Given the description of an element on the screen output the (x, y) to click on. 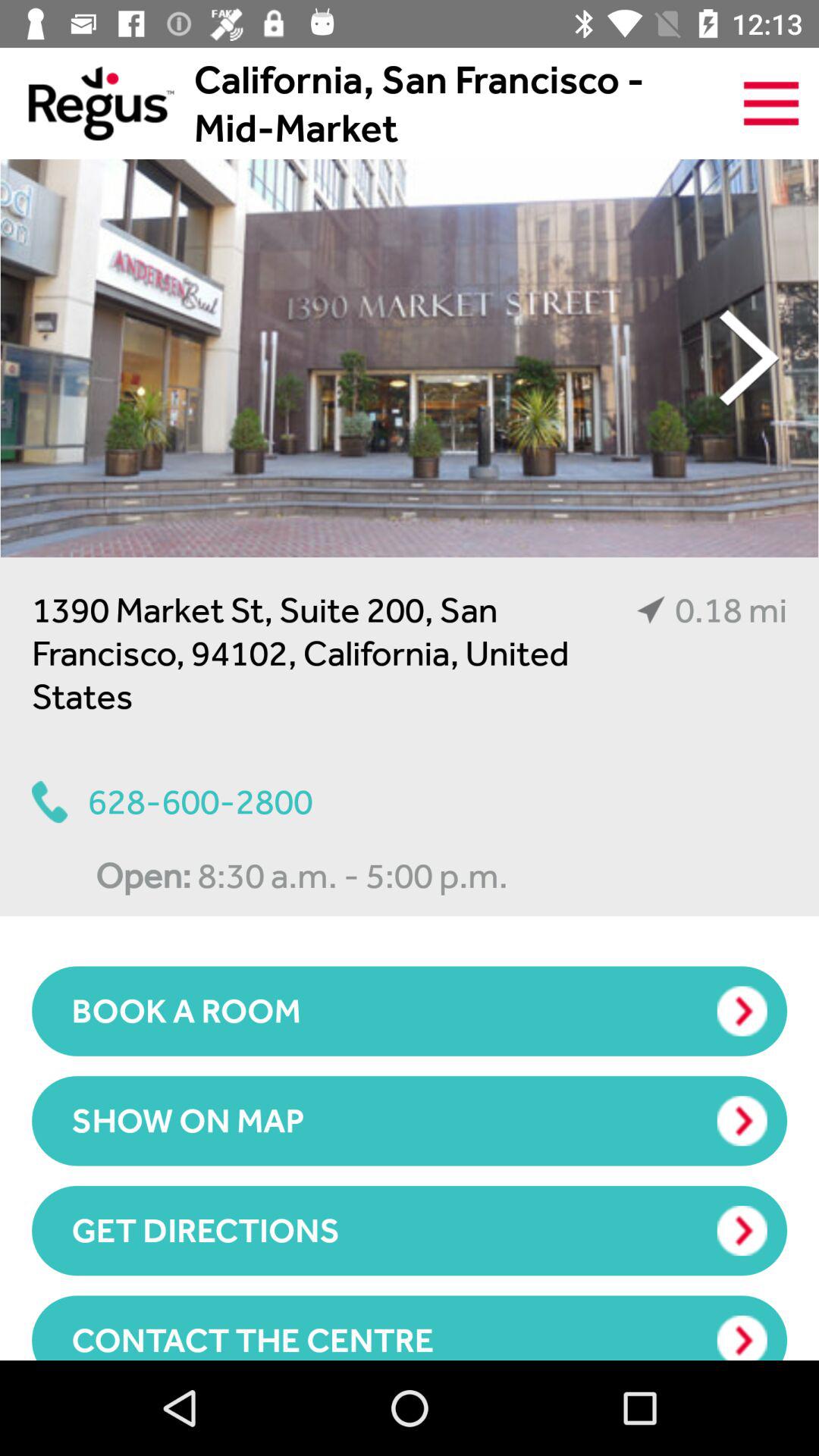
flip to contact the centre item (409, 1327)
